Given the description of an element on the screen output the (x, y) to click on. 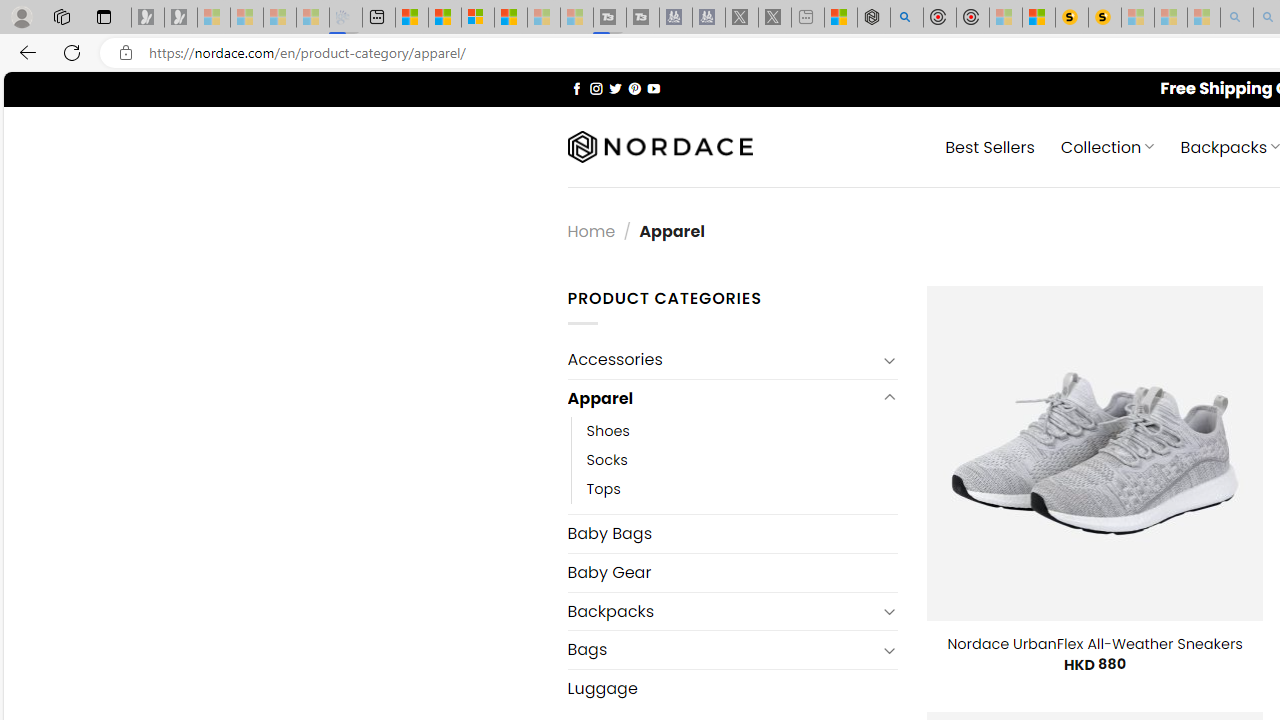
Backpacks (721, 610)
Shoes (607, 431)
Bags (721, 649)
  Best Sellers (989, 146)
Tops (742, 489)
